Given the description of an element on the screen output the (x, y) to click on. 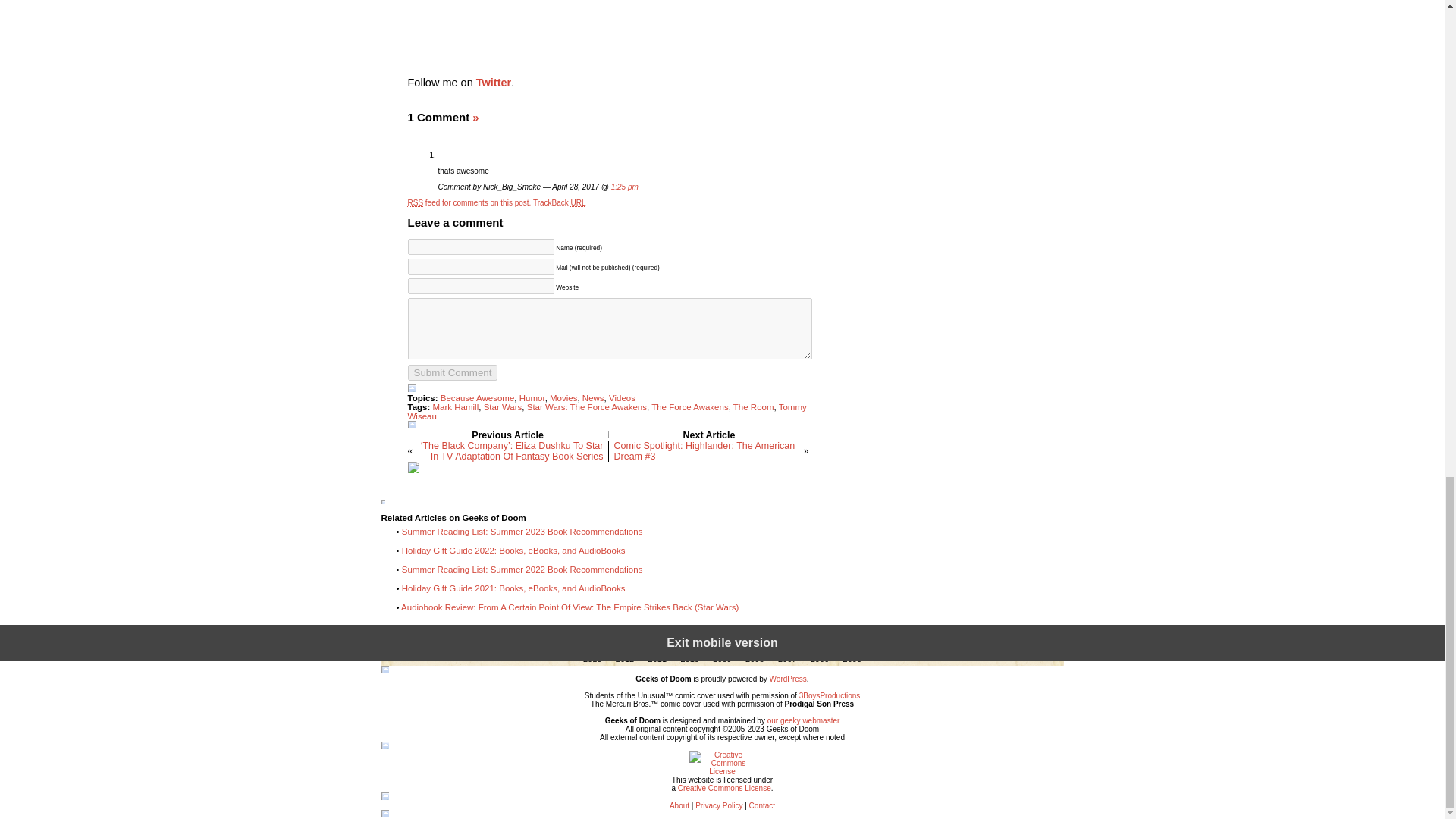
1:25 pm (625, 186)
Summer Reading List: Summer 2022 Book Recommendations (522, 569)
Holiday Gift Guide 2022: Books, eBooks, and AudioBooks (513, 550)
Star Wars (502, 406)
News (593, 397)
Submit Comment (452, 372)
Holiday Gift Guide 2021: Books, eBooks, and AudioBooks (513, 587)
The Room (753, 406)
RSS feed for comments on this post. (469, 203)
Humor (531, 397)
Mark Hamill (455, 406)
Holiday Gift Guide 2022: Books, eBooks, and AudioBooks (513, 550)
Submit Comment (452, 372)
Summer Reading List: Summer 2022 Book Recommendations (522, 569)
Summer Reading List: Summer 2023 Book Recommendations (522, 531)
